Given the description of an element on the screen output the (x, y) to click on. 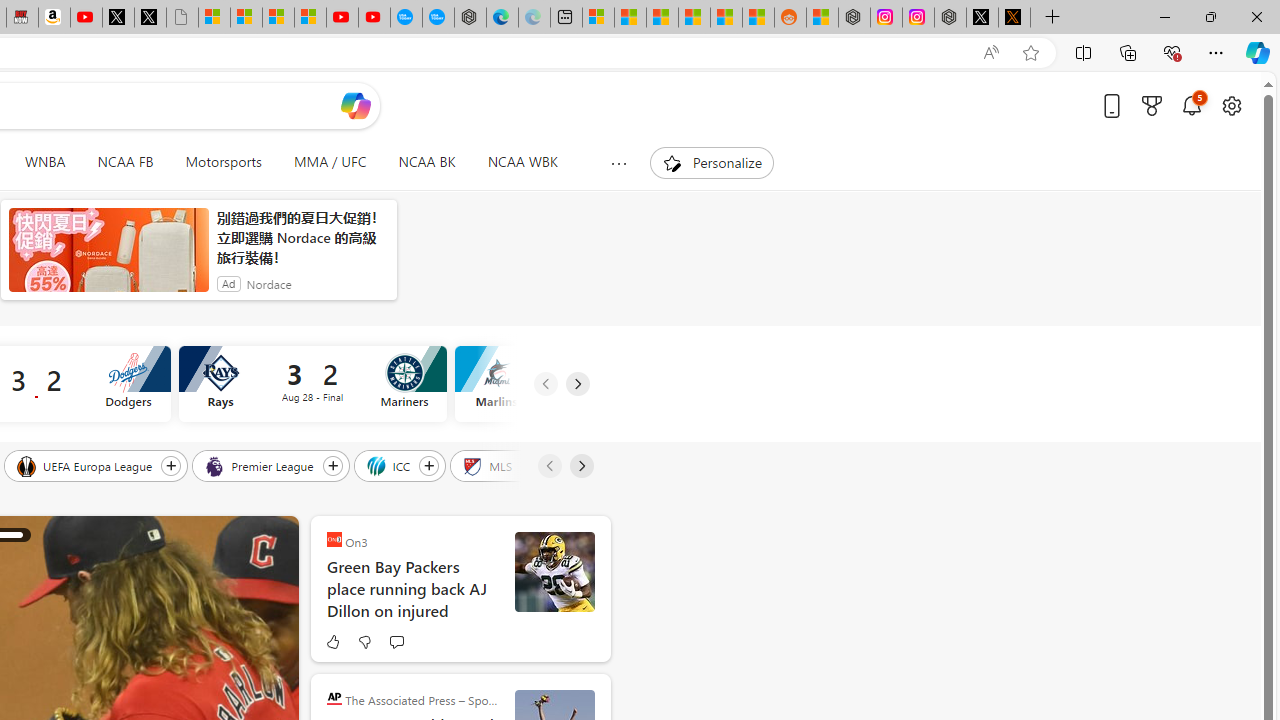
(Photo by Kevin Sabitus/Getty Images) (554, 572)
NCAA BK (426, 162)
NCAA FB (125, 162)
Like (332, 641)
Motorsports (223, 162)
